Given the description of an element on the screen output the (x, y) to click on. 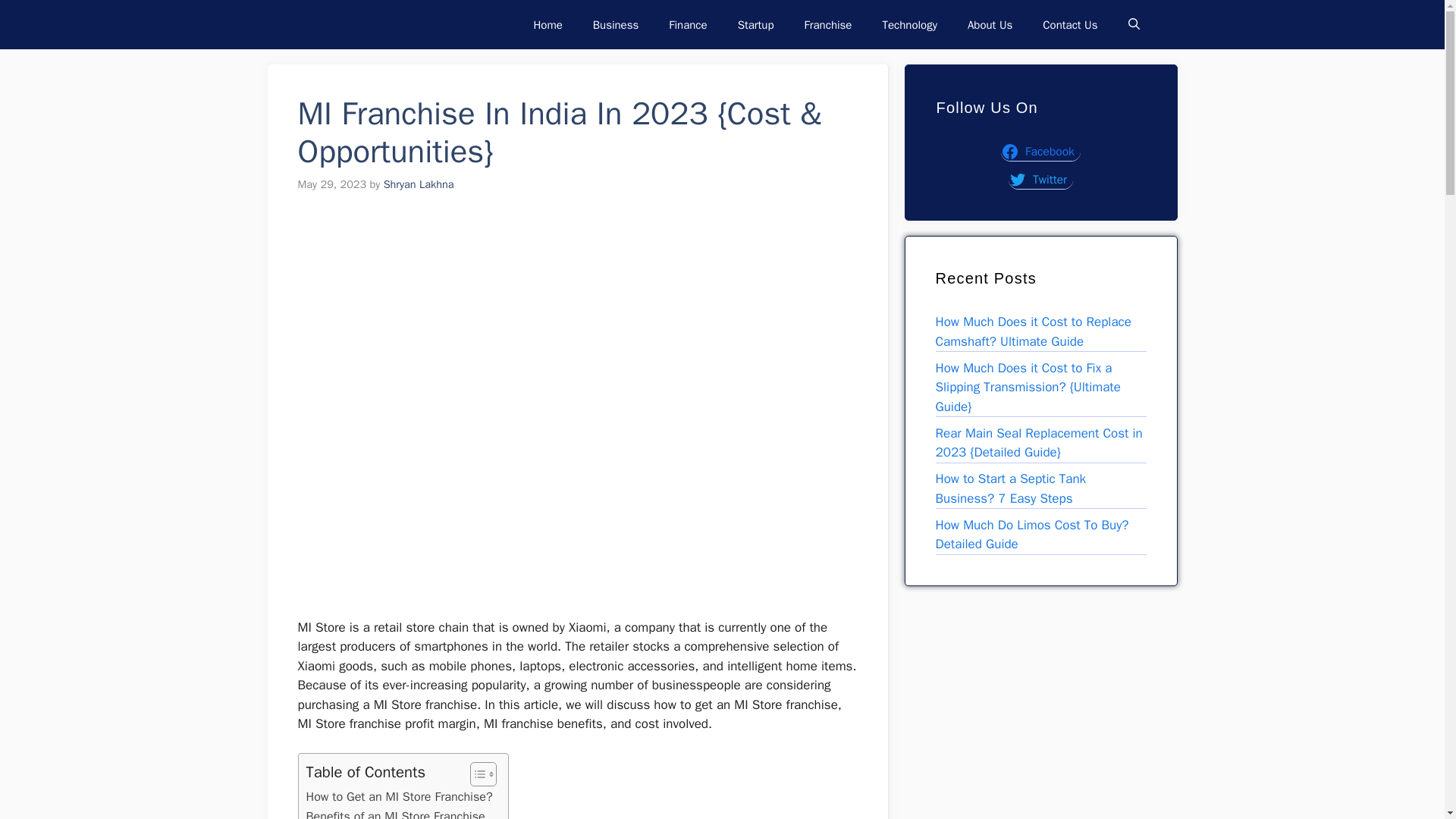
How to Start a Septic Tank Business? 7 Easy Steps (1011, 488)
Contact Us (1069, 23)
Benefits of an MI Store Franchise (394, 812)
Shryan Lakhna (419, 183)
How Much Do Limos Cost To Buy? Detailed Guide (1032, 534)
Home (547, 23)
About Us (989, 23)
StartupsMaker (341, 24)
How Much Does it Cost to Replace Camshaft? Ultimate Guide (1033, 331)
How to Get an MI Store Franchise? (399, 796)
Facebook (1040, 151)
Twitter (1041, 179)
How to Get an MI Store Franchise? (399, 796)
Benefits of an MI Store Franchise (394, 812)
Startup (755, 23)
